Given the description of an element on the screen output the (x, y) to click on. 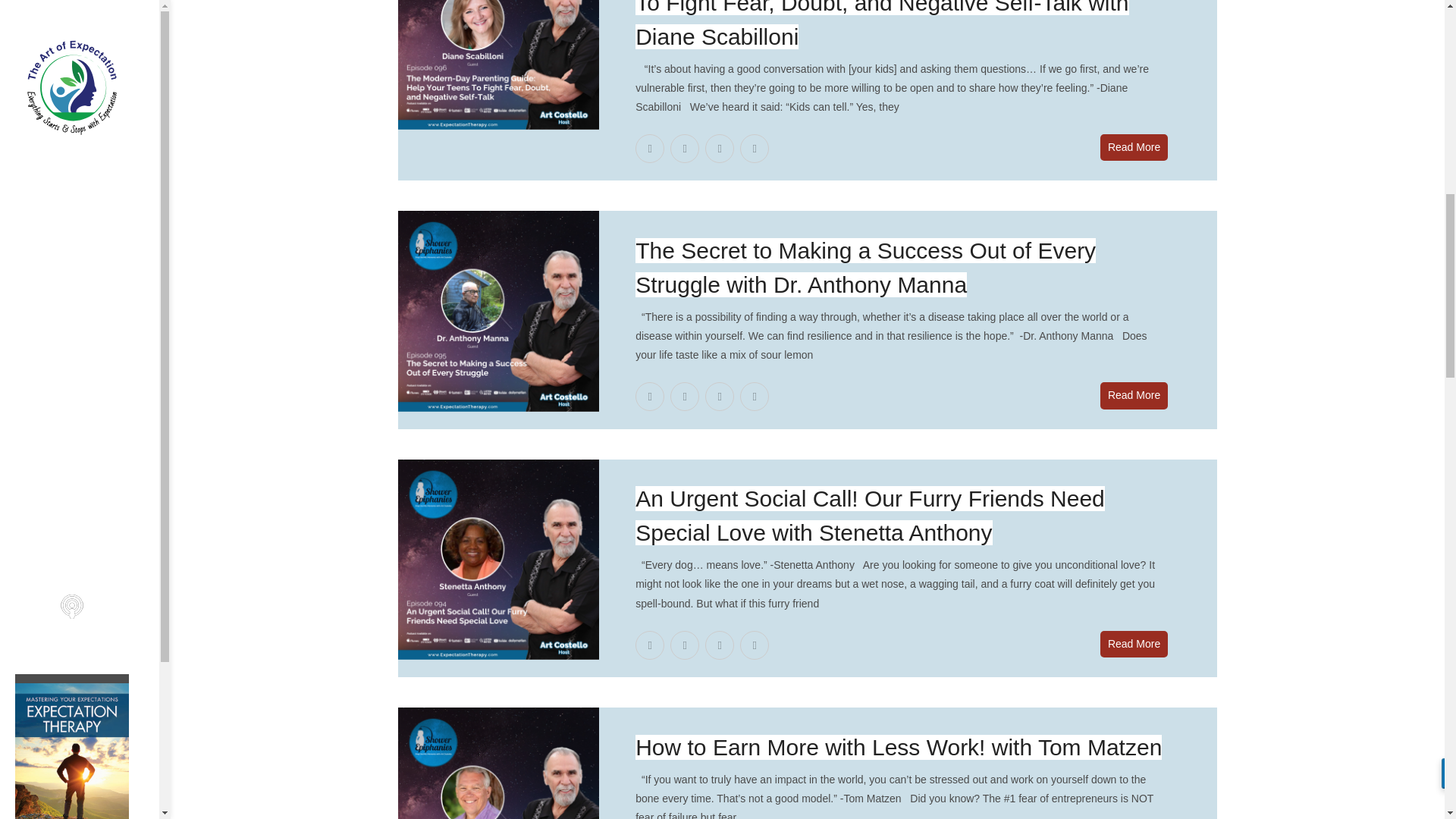
Expectation Therapy Book (86, 79)
Or Listen to the Audiobook (86, 79)
